Given the description of an element on the screen output the (x, y) to click on. 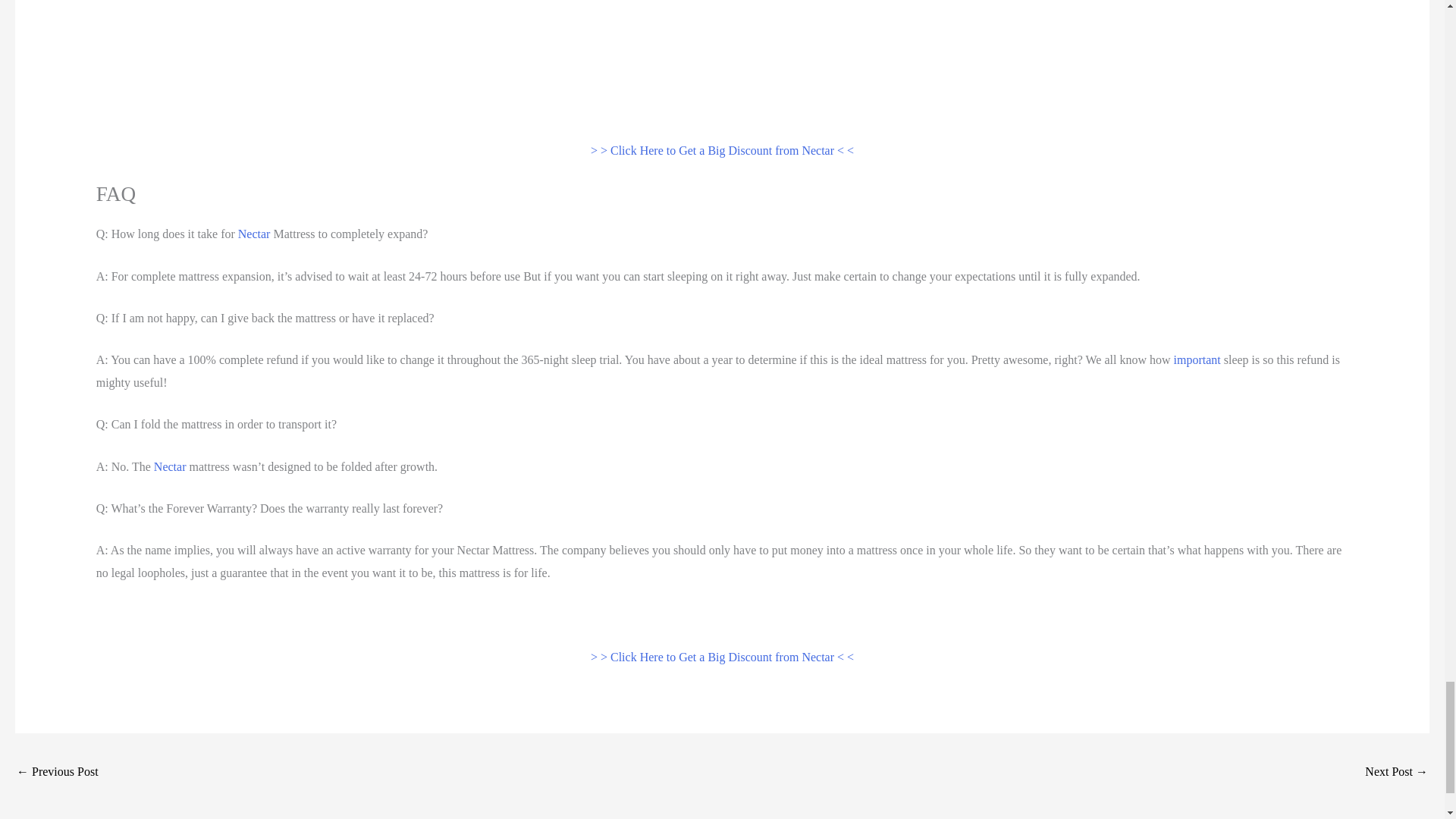
Nectar King Mattress Prices (1396, 773)
Nectar Mattress Turning Yellow (57, 773)
important (1196, 359)
Nectar (170, 466)
Nectar (254, 233)
